Given the description of an element on the screen output the (x, y) to click on. 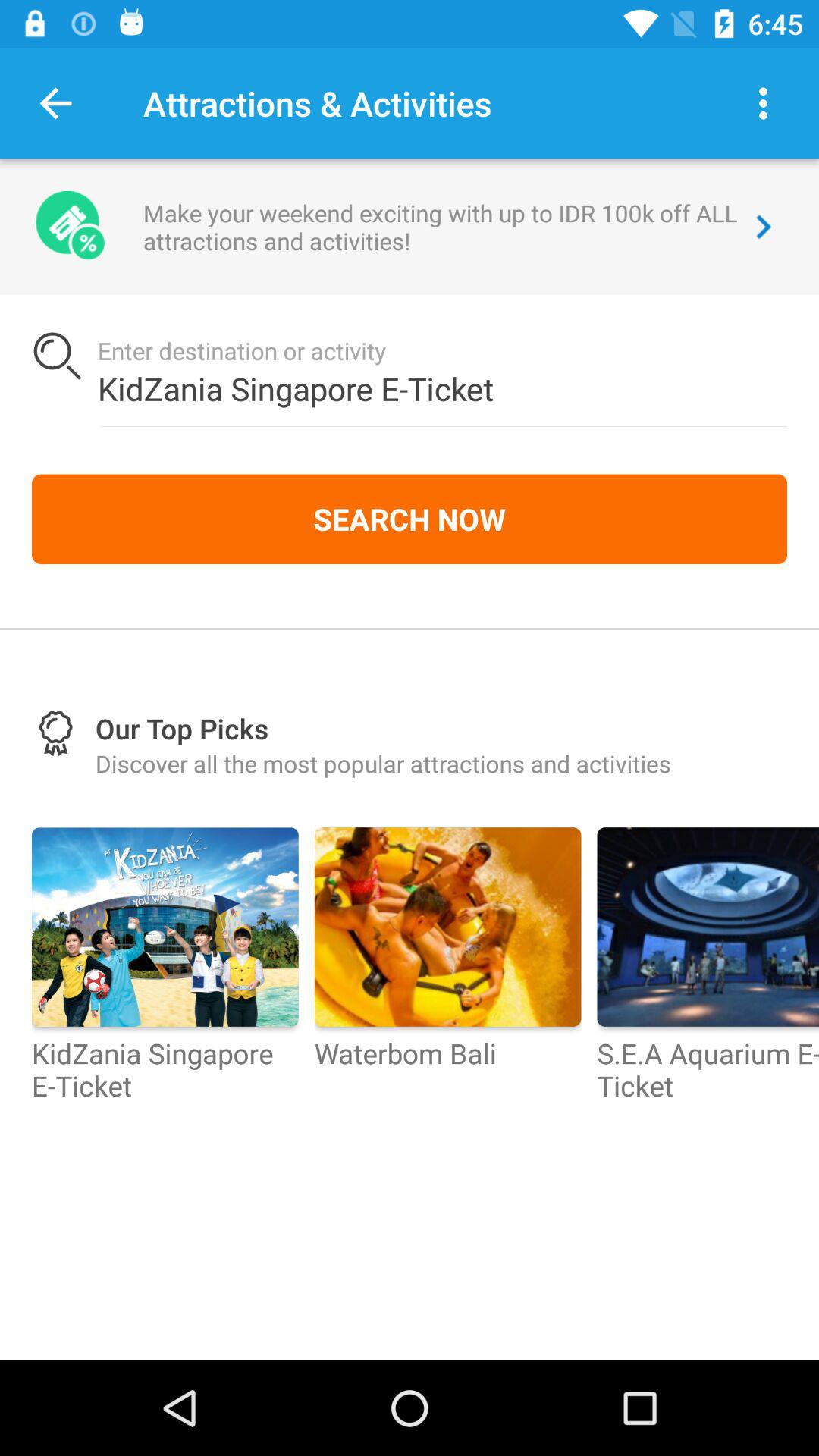
choose the icon to the right of the attractions & activities icon (763, 103)
